Given the description of an element on the screen output the (x, y) to click on. 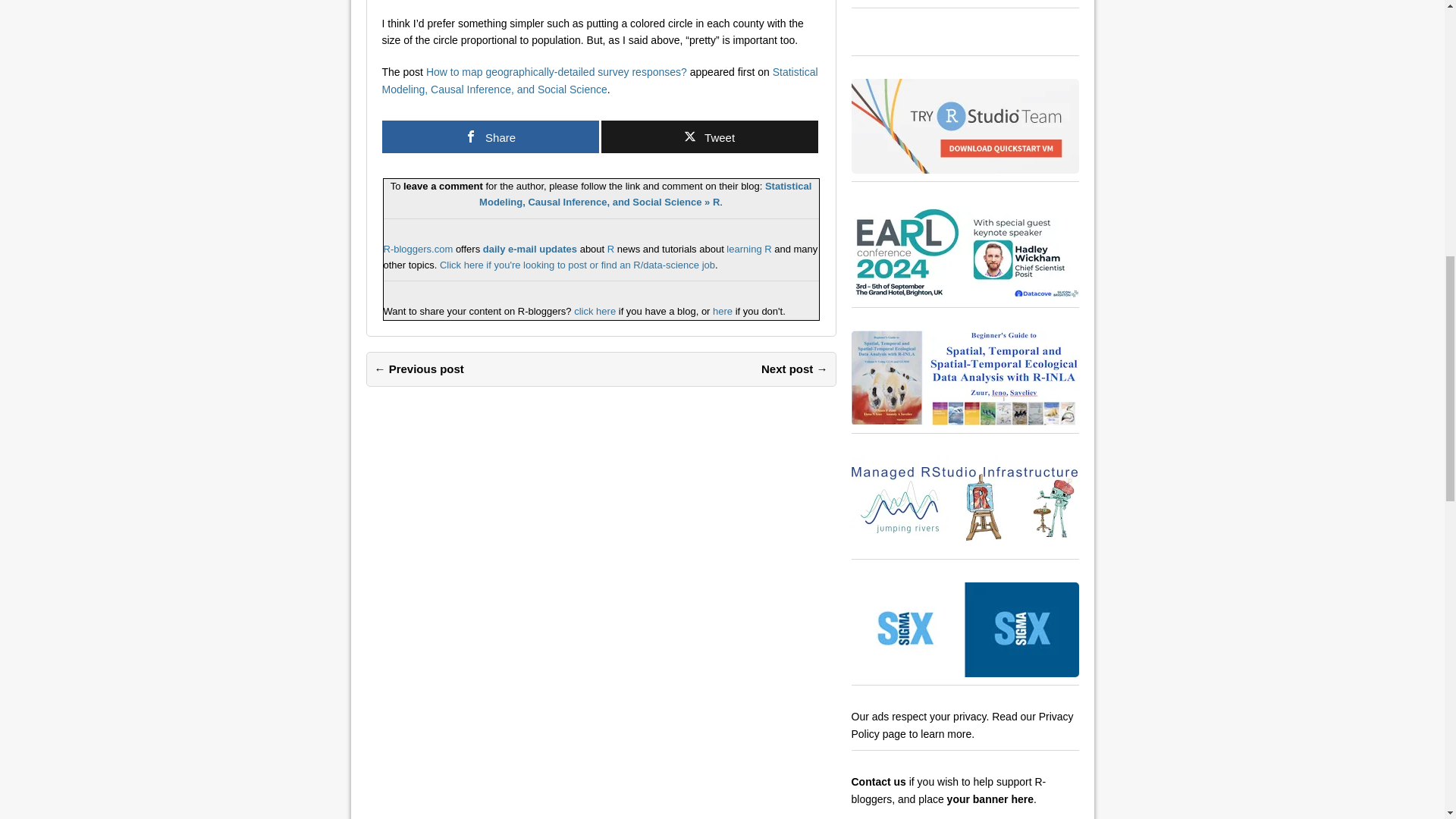
daily e-mail updates (529, 248)
Statistical Modeling, Causal Inference, and Social Science (599, 80)
R tutorials (748, 248)
How to map geographically-detailed survey responses? (556, 71)
learning R (748, 248)
R-bloggers.com (418, 248)
Tweet (707, 136)
Data science jobs (576, 265)
Share (489, 136)
